Given the description of an element on the screen output the (x, y) to click on. 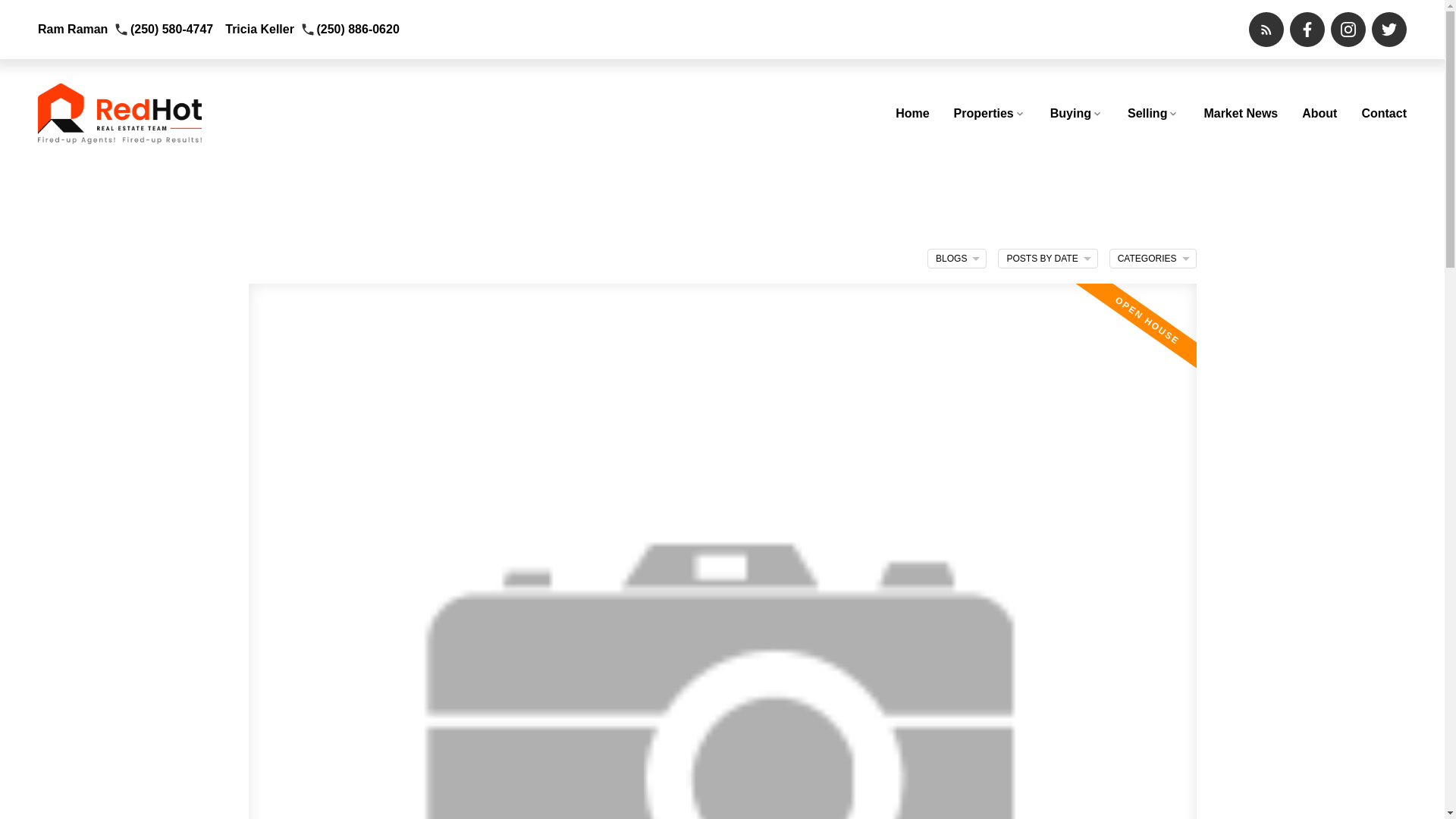
Home (911, 113)
Selling (1152, 113)
Properties (989, 113)
Market News (1241, 113)
Contact (1383, 113)
Buying (1076, 113)
About (1318, 113)
